Given the description of an element on the screen output the (x, y) to click on. 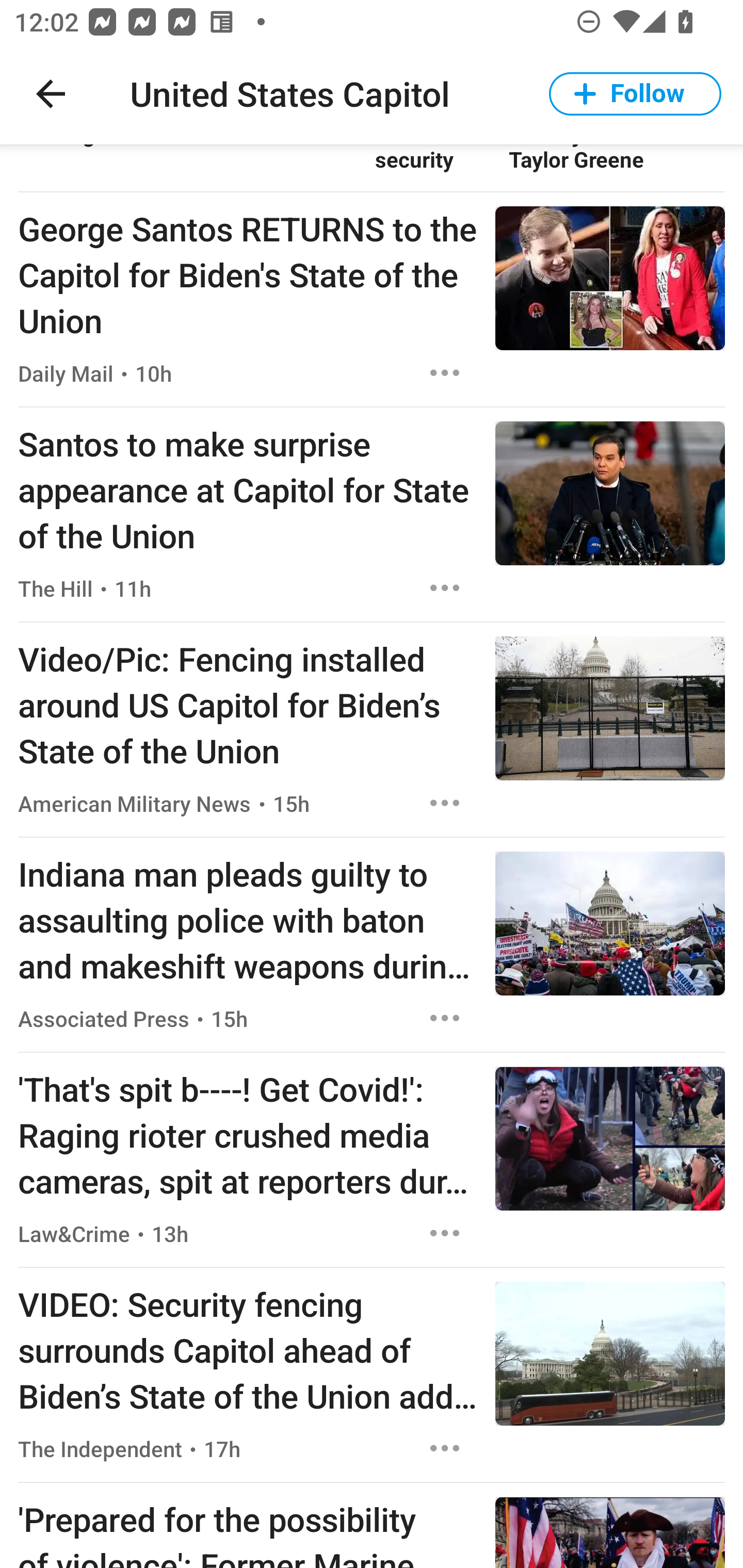
Navigate up (50, 93)
Follow (635, 94)
Options (444, 373)
Options (444, 587)
Options (444, 802)
Options (444, 1018)
Options (444, 1233)
Options (444, 1448)
